Given the description of an element on the screen output the (x, y) to click on. 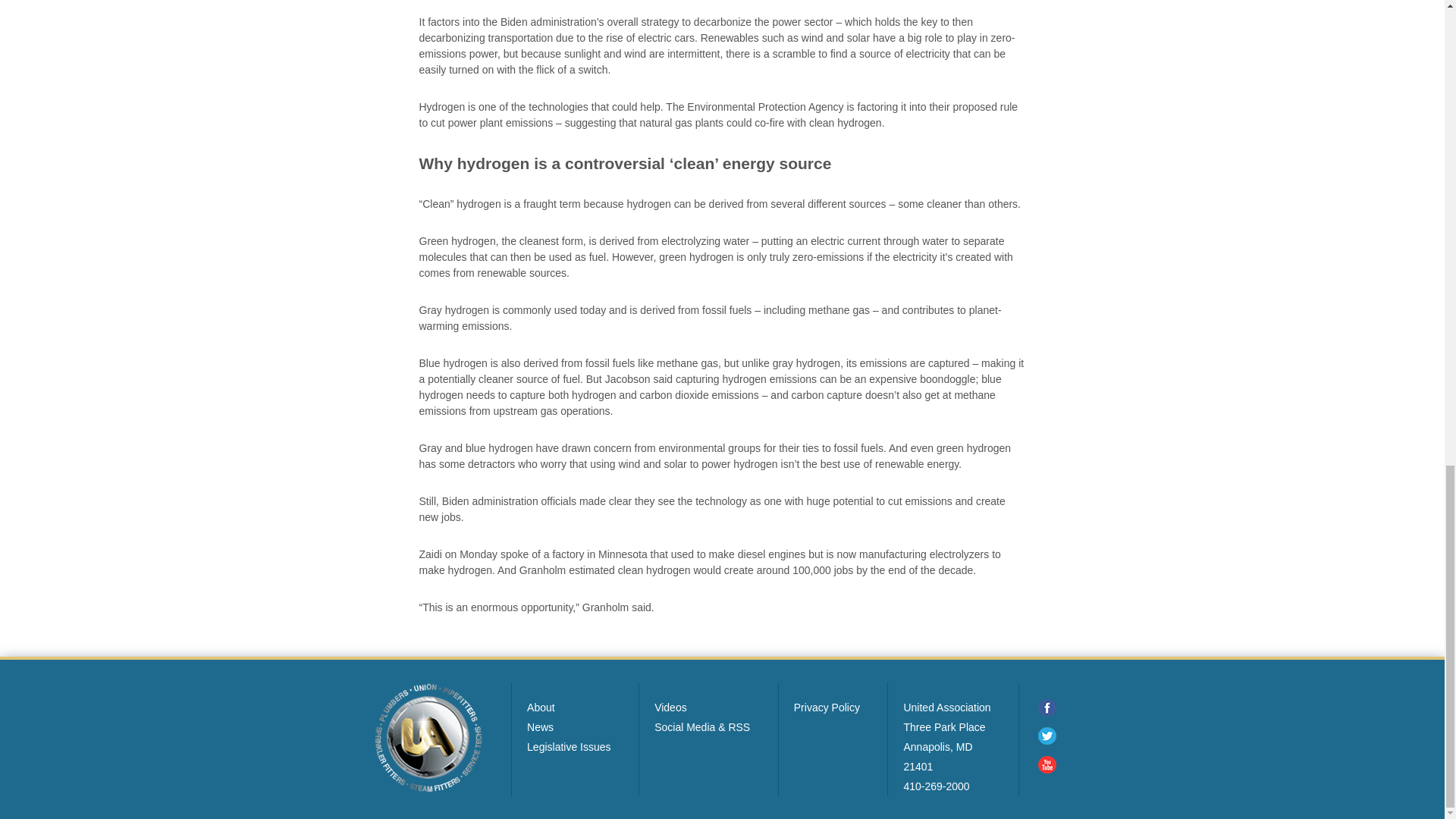
tw (1045, 737)
Privacy Policy (826, 707)
Legislative Issues (569, 746)
About (540, 707)
Videos (670, 707)
News (540, 727)
yt (1045, 766)
fb (1045, 708)
